Given the description of an element on the screen output the (x, y) to click on. 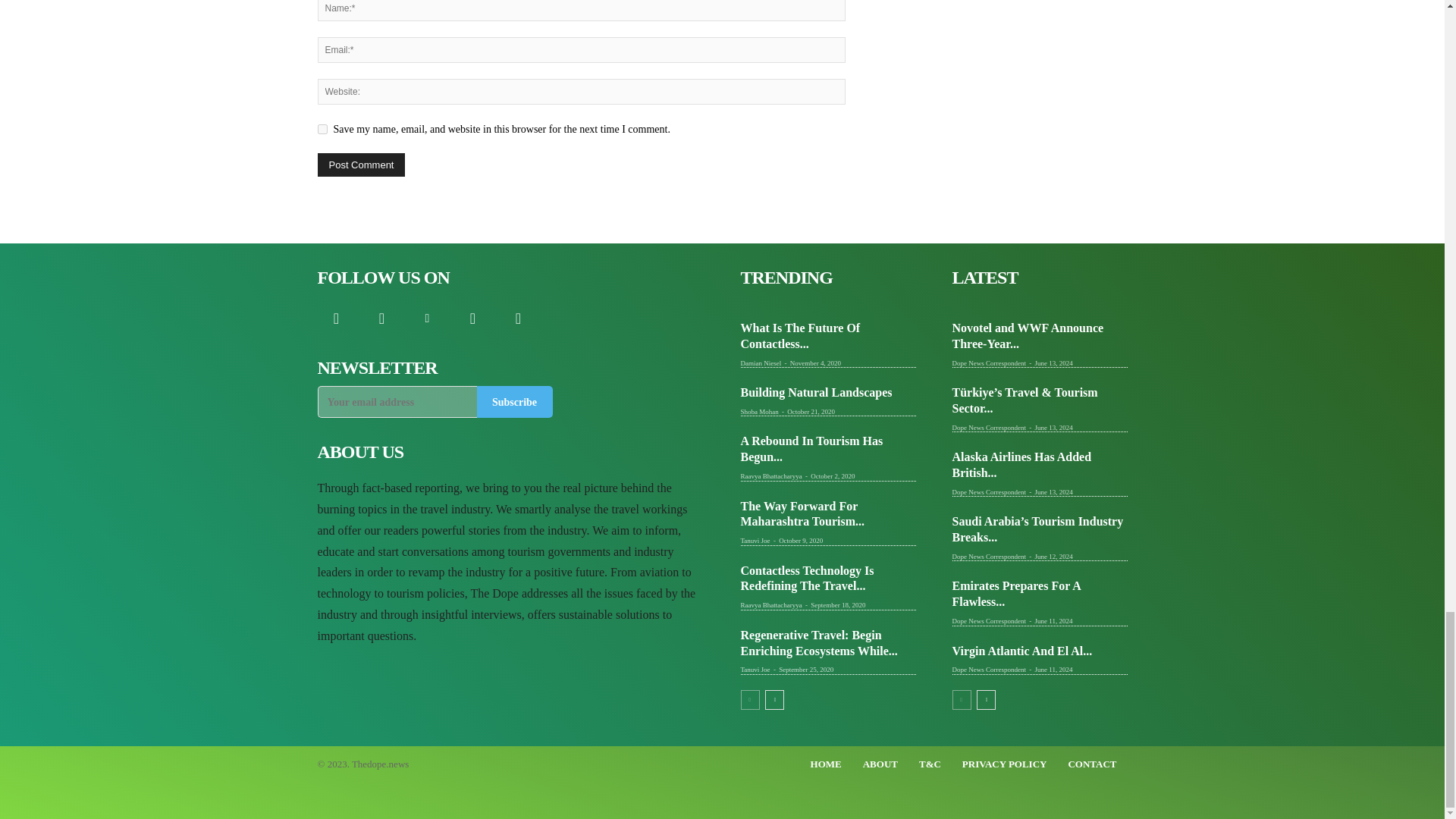
yes (321, 129)
Post Comment (360, 164)
